Given the description of an element on the screen output the (x, y) to click on. 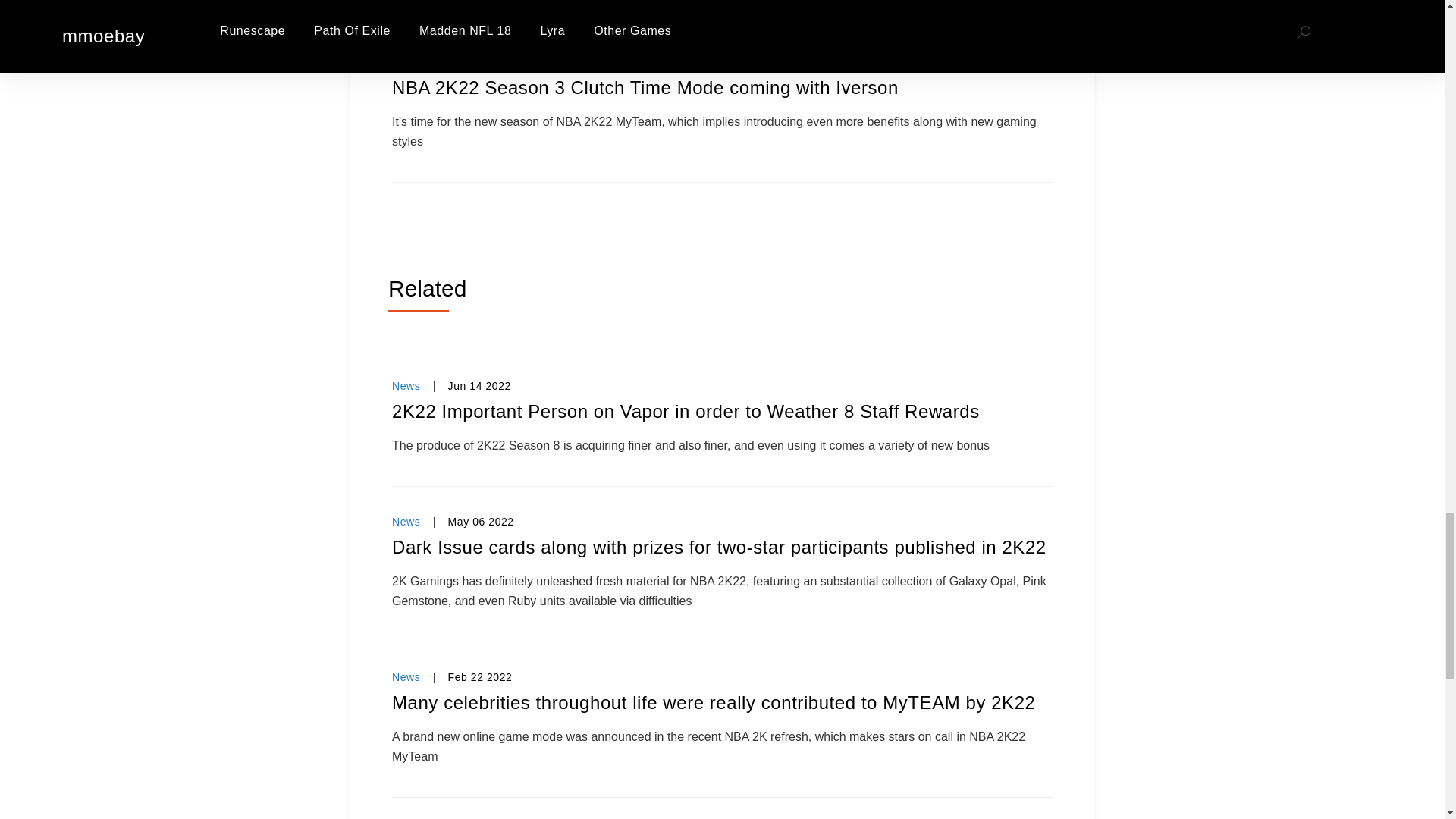
News (405, 676)
News (405, 521)
News (405, 61)
NBA 2K22 Season 3 Clutch Time Mode coming with Iverson (721, 87)
News (405, 386)
